Given the description of an element on the screen output the (x, y) to click on. 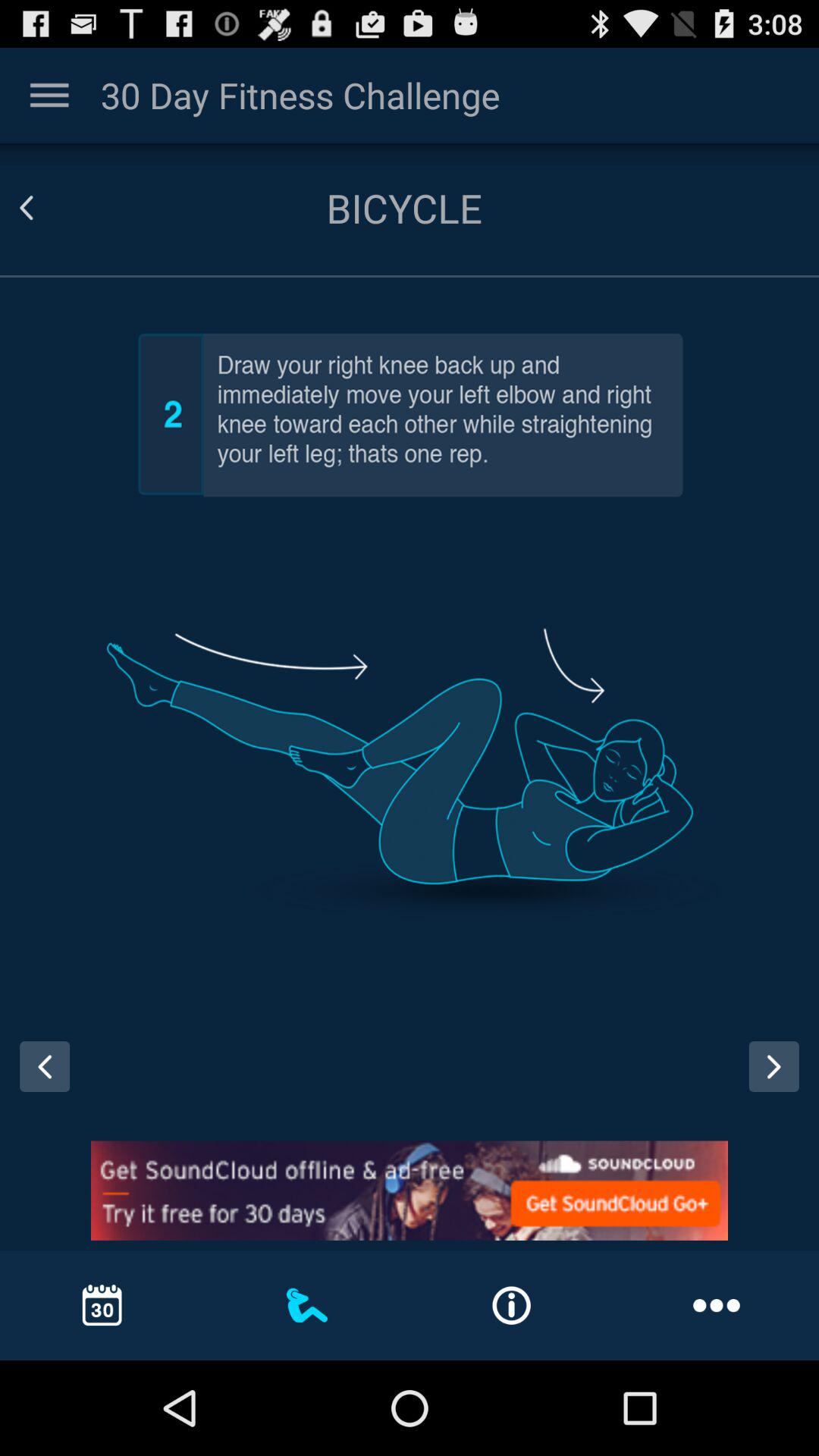
back the page (44, 208)
